Given the description of an element on the screen output the (x, y) to click on. 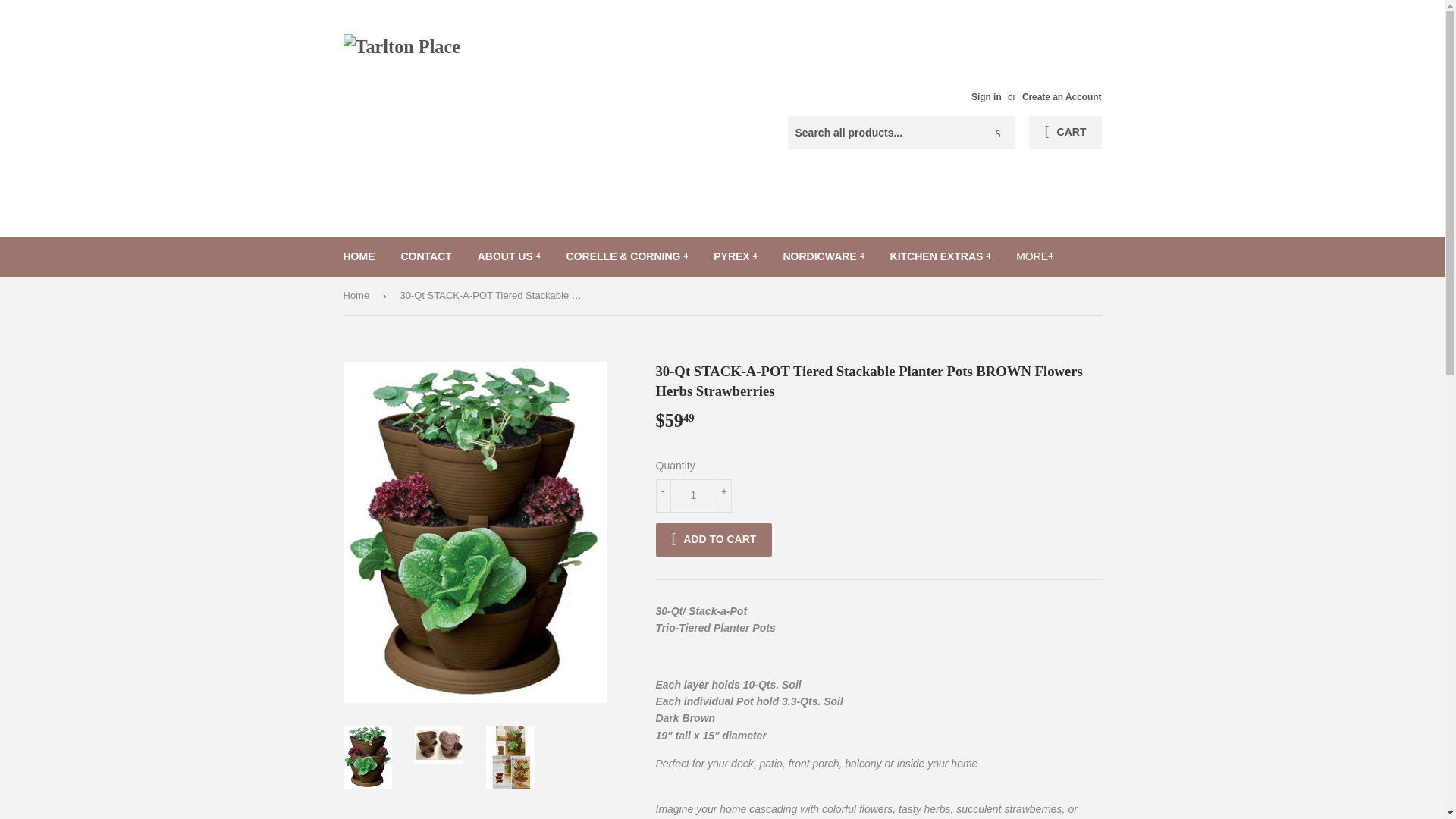
Sign in (986, 96)
Create an Account (1062, 96)
CART (1064, 132)
Search (997, 133)
1 (692, 495)
